Given the description of an element on the screen output the (x, y) to click on. 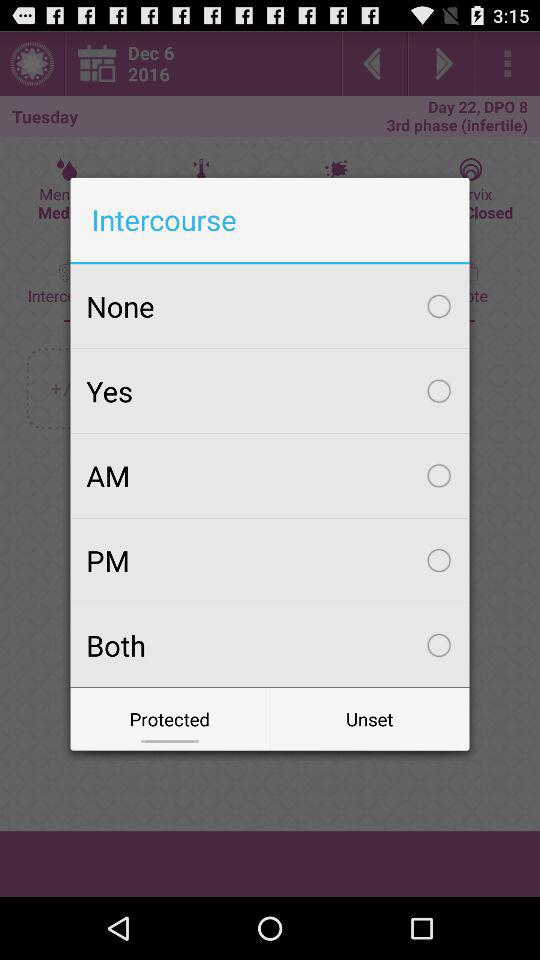
launch icon below the both checkbox (169, 718)
